Given the description of an element on the screen output the (x, y) to click on. 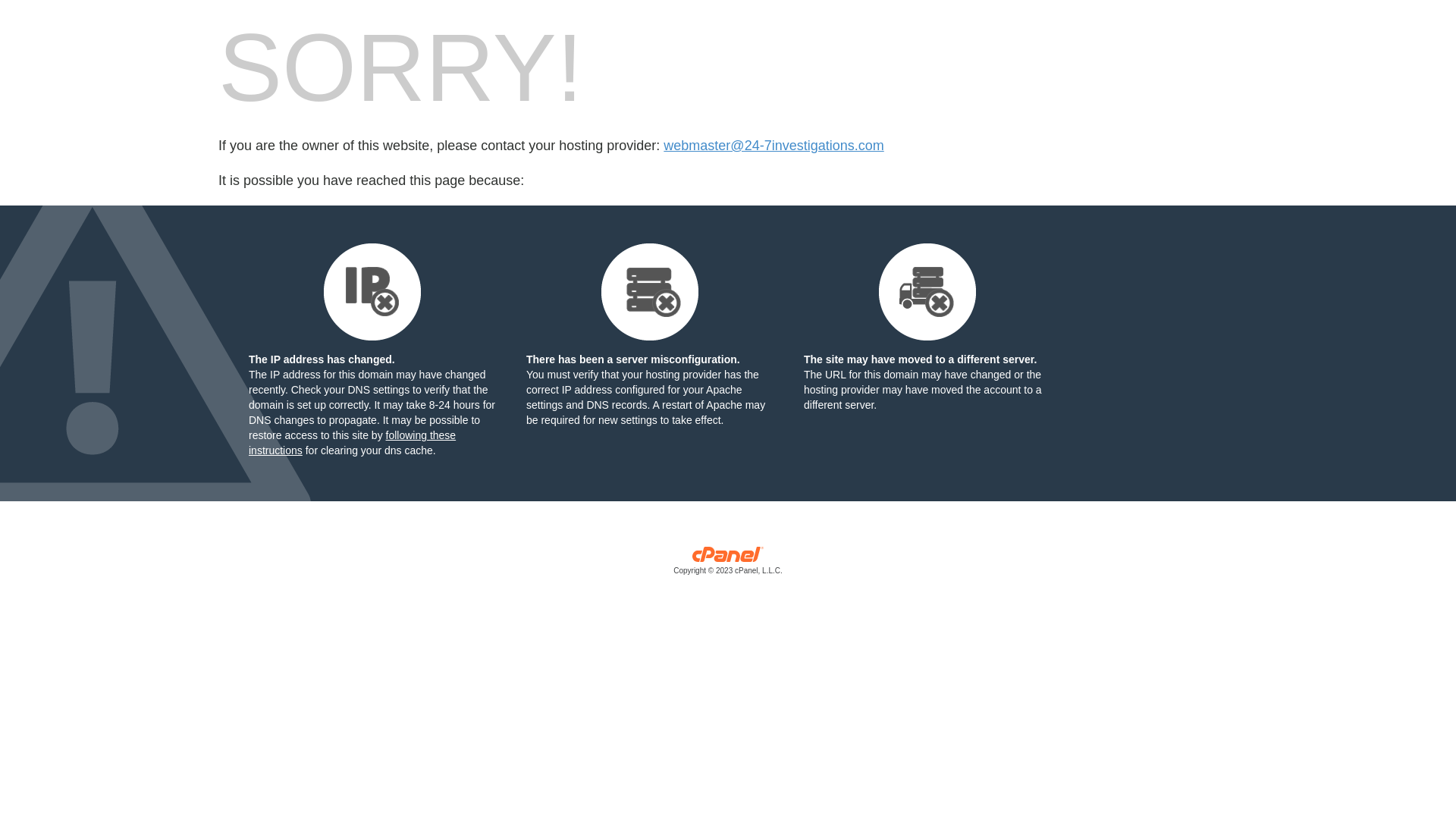
webmaster@24-7investigations.com Element type: text (773, 145)
following these instructions Element type: text (351, 442)
